Given the description of an element on the screen output the (x, y) to click on. 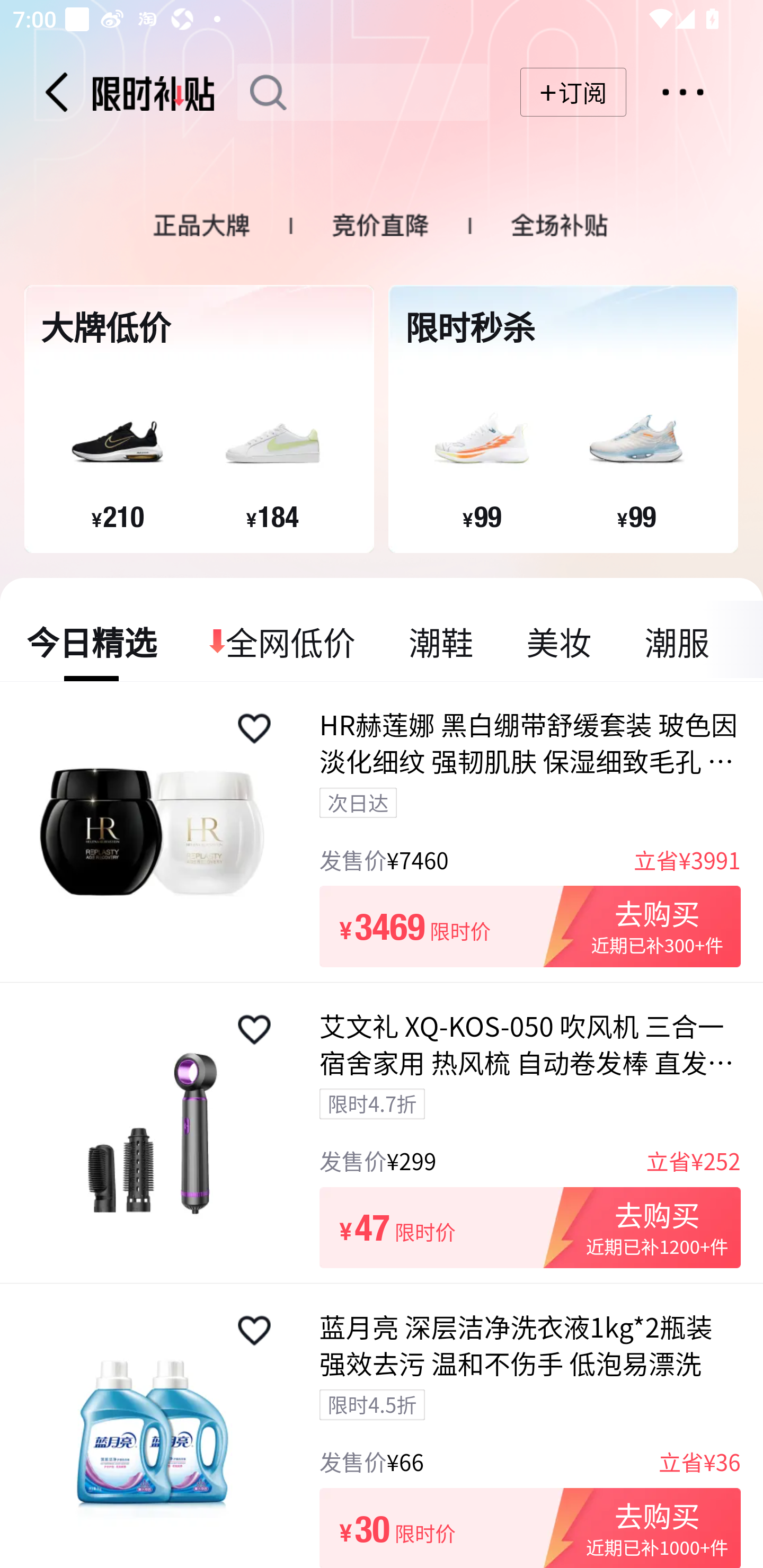
+订阅 (572, 92)
resize,w_152 ¥210 (117, 443)
resize,w_152 ¥184 (271, 443)
resize,w_152 ¥99 (481, 443)
resize,w_152 ¥99 (636, 443)
¥210 (118, 516)
¥184 (272, 516)
¥99 (482, 516)
¥99 (636, 516)
今日精选 (92, 640)
9e7fc8ca-86cd-3a08-4a56-57b9d219ca85-30-45 全网低价 (283, 640)
潮鞋 (440, 640)
美妆 (558, 640)
潮服 (676, 640)
resize,w_60 (254, 728)
resize,w_60 (254, 1030)
resize,w_60 (254, 1331)
